Given the description of an element on the screen output the (x, y) to click on. 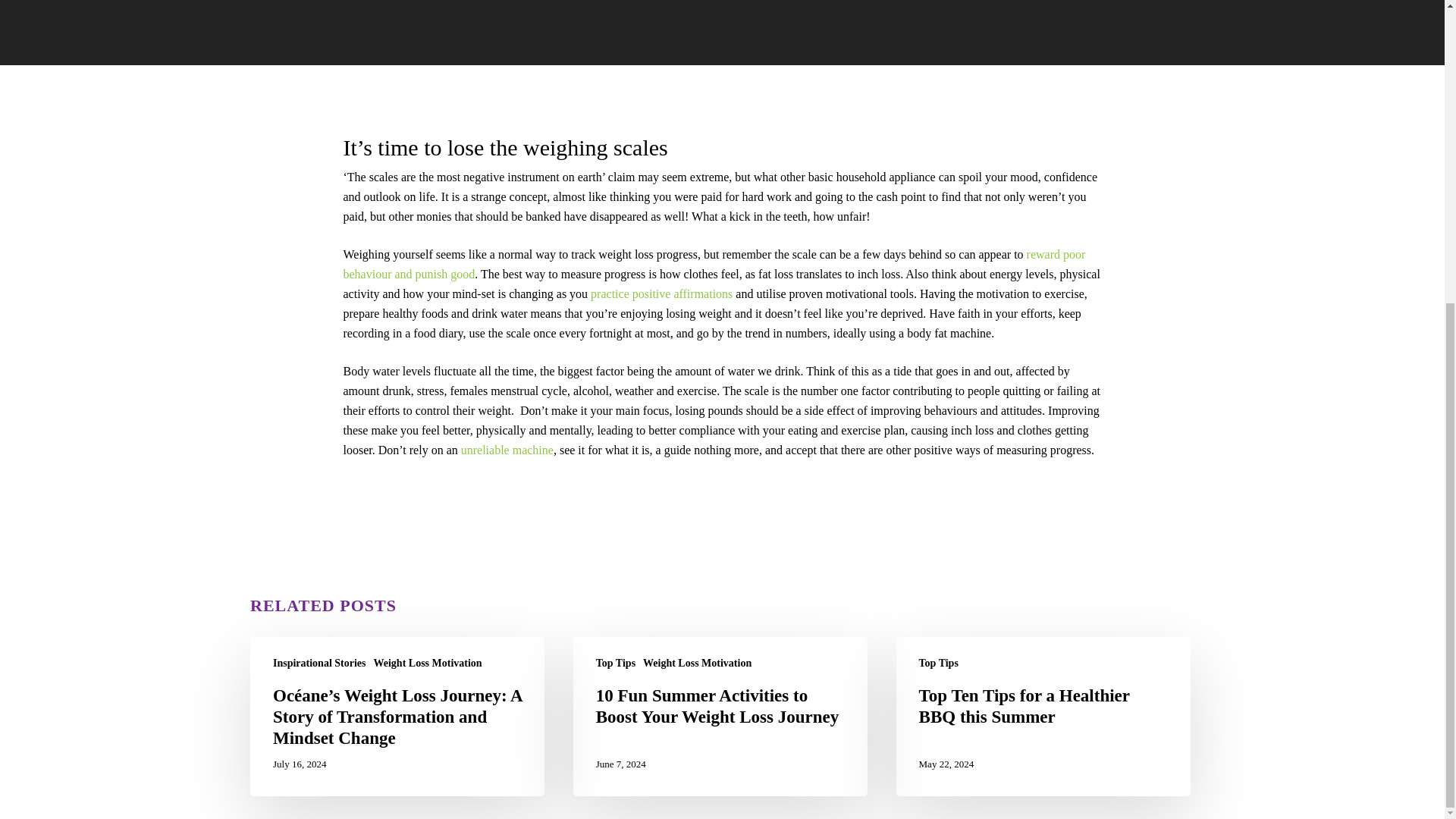
reward poor behaviour and punish good (713, 264)
Inspirational Stories (319, 663)
Weight Loss Motivation (427, 663)
practice positive affirmations (661, 293)
unreliable machine (507, 449)
